Given the description of an element on the screen output the (x, y) to click on. 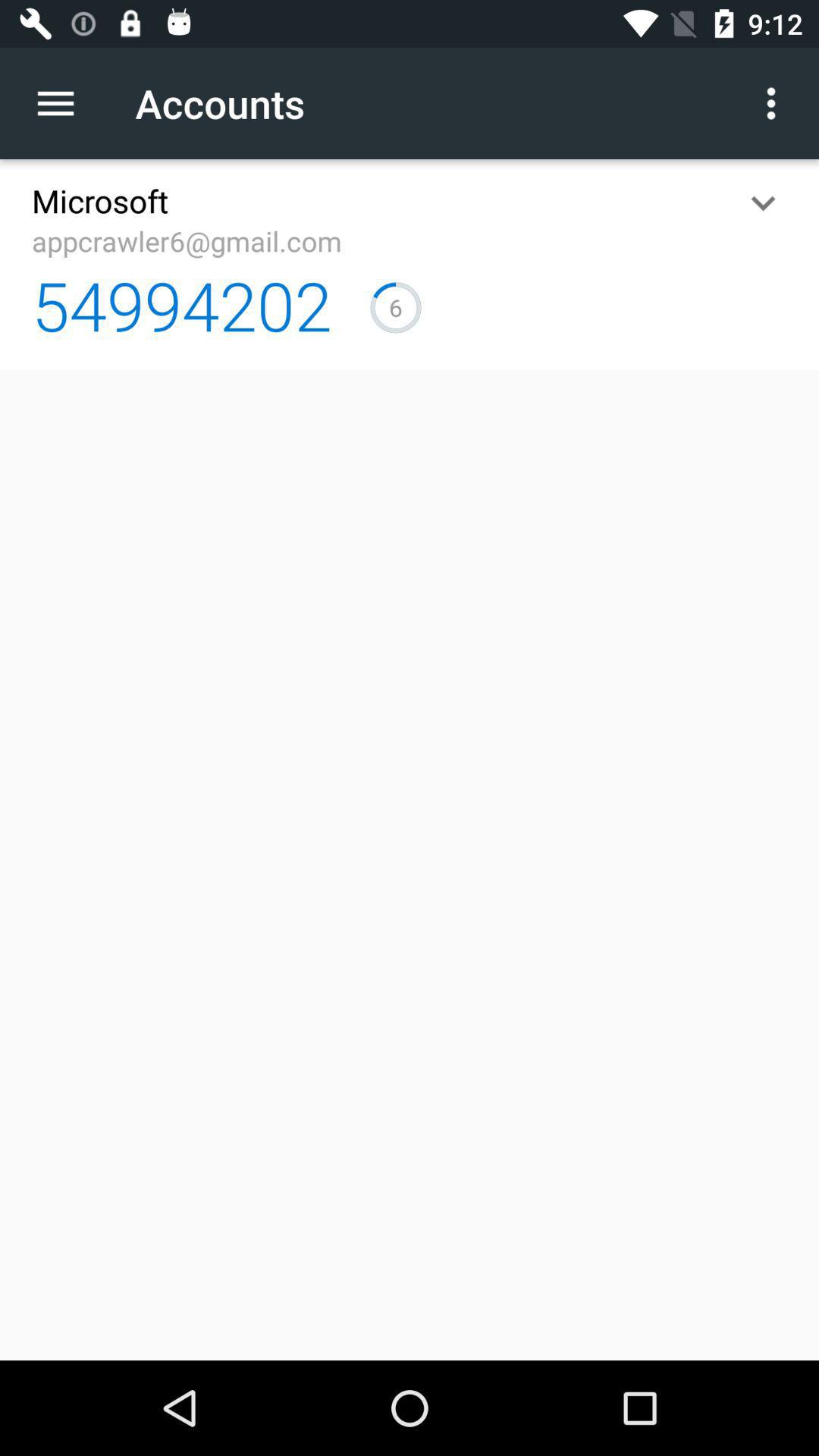
turn off app below the appcrawler6@gmail.com app (181, 304)
